Given the description of an element on the screen output the (x, y) to click on. 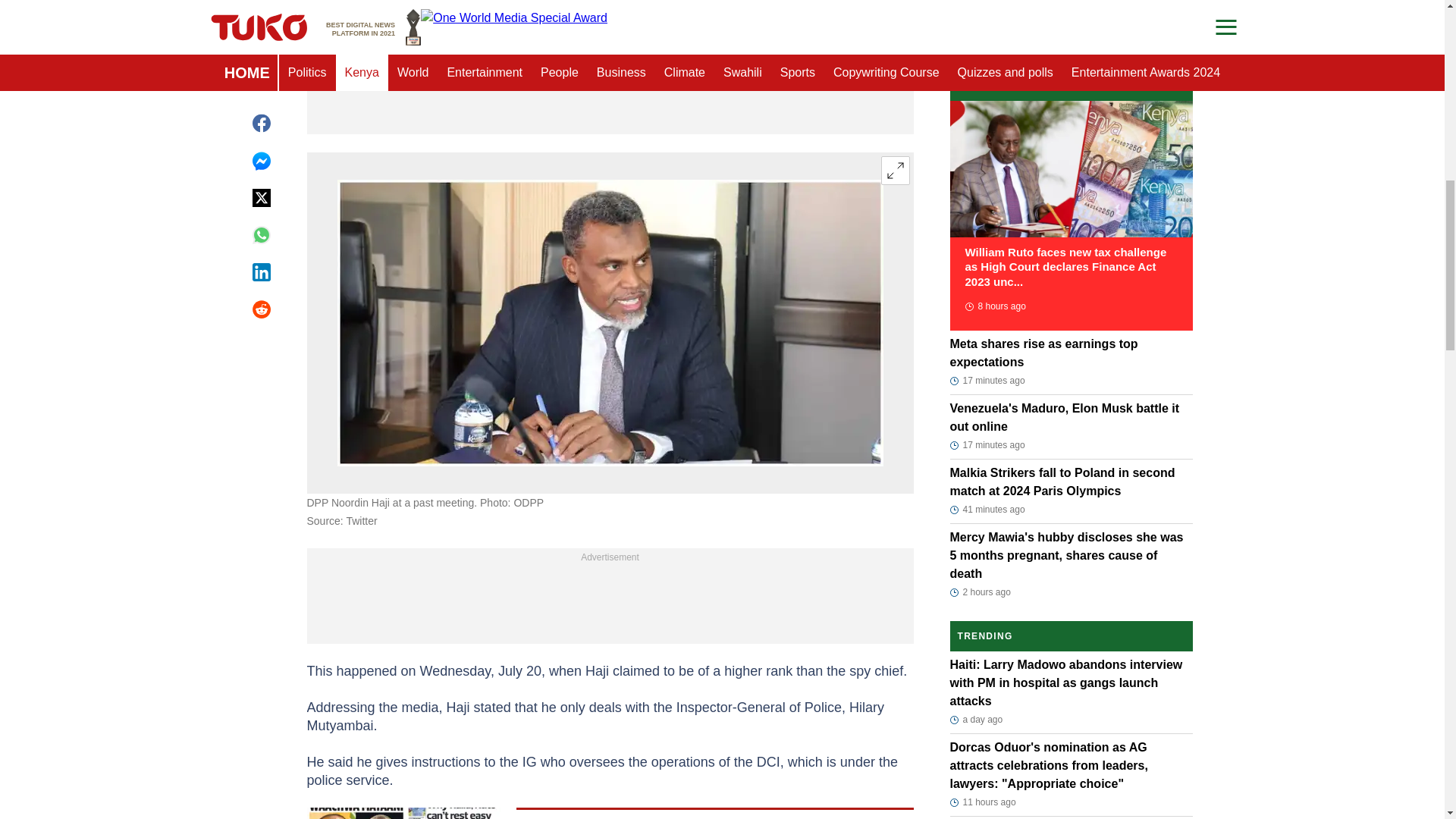
Expand image (895, 170)
